Given the description of an element on the screen output the (x, y) to click on. 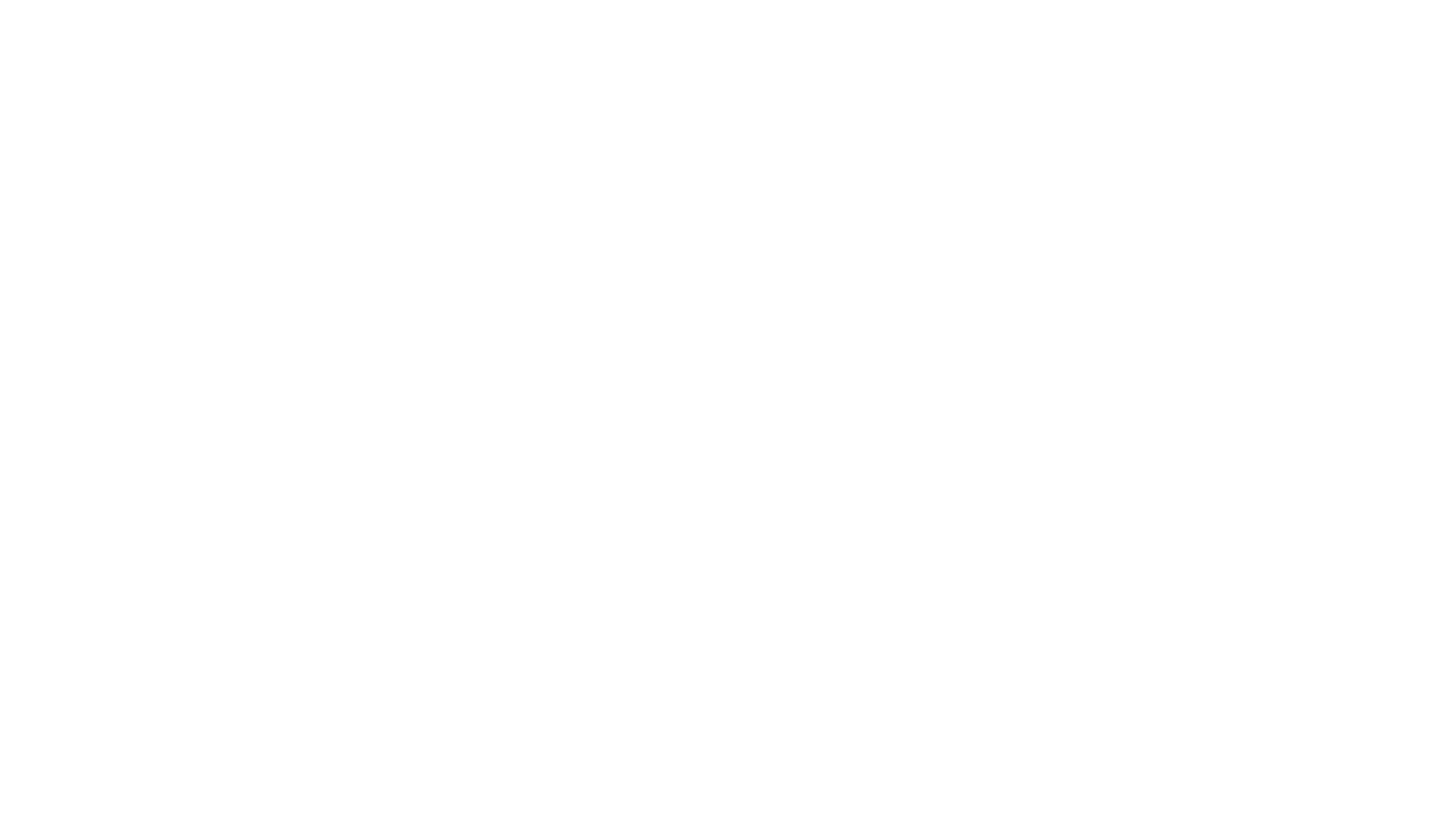
FAQ Element type: text (130, 363)
About Element type: text (21, 303)
Submit Element type: text (26, 696)
Terms & Conditions Element type: text (121, 424)
Contact Us Element type: text (35, 424)
Pricing Element type: text (24, 363)
DOWNLOAD Element type: text (41, 450)
ABOUT Element type: text (218, 50)
CONTACT Element type: text (312, 50)
Privacy & Cookies Element type: text (226, 424)
Book Collection Element type: text (385, 50)
Partnerships Element type: text (81, 363)
Careers Element type: text (62, 303)
HOW IT WORKS Element type: text (52, 50)
NEWS Element type: text (261, 50)
News Element type: text (102, 303)
PARTNERSHIPS Element type: text (148, 50)
